Given the description of an element on the screen output the (x, y) to click on. 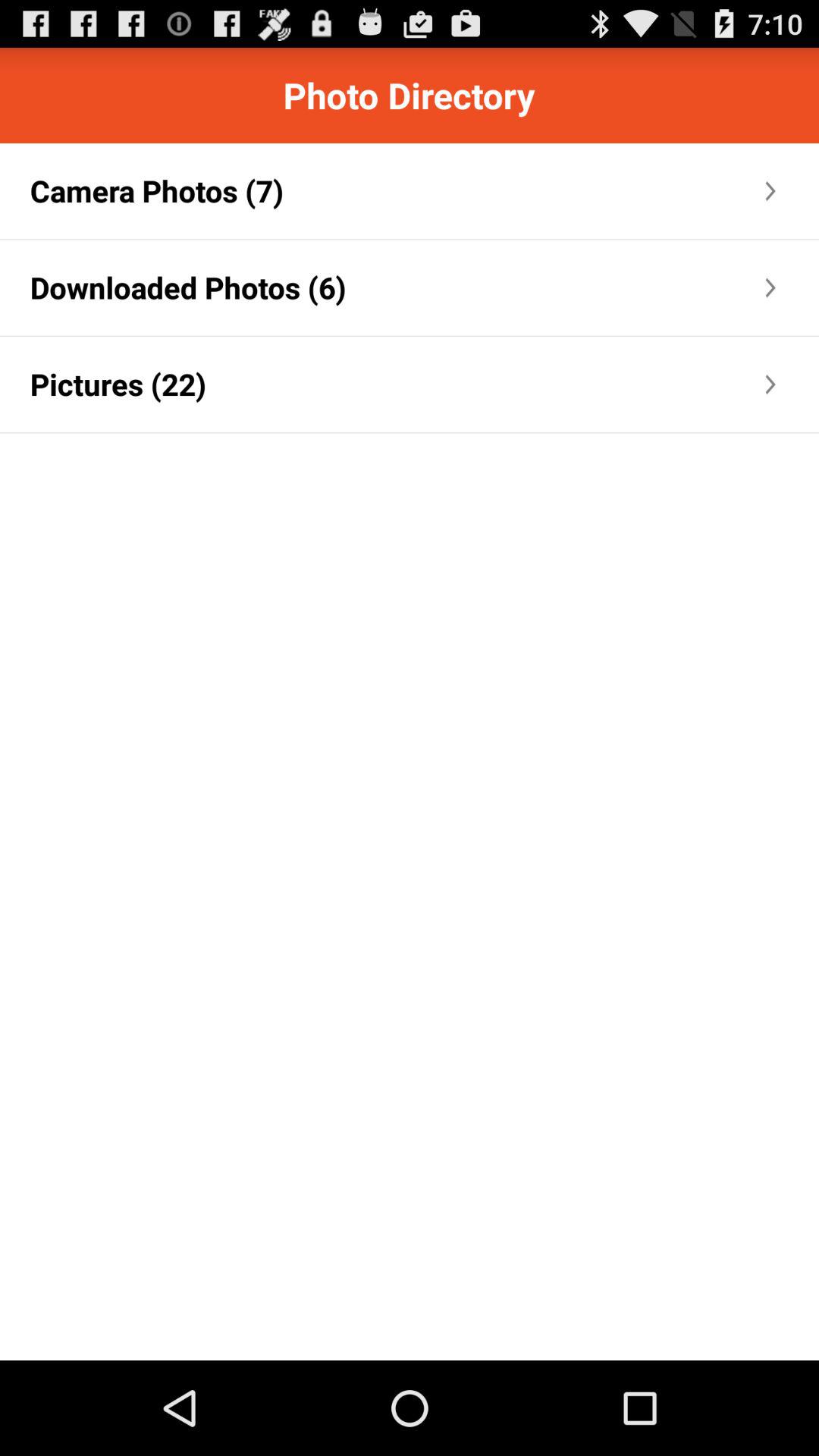
open the icon above downloaded photos (6) app (156, 190)
